Given the description of an element on the screen output the (x, y) to click on. 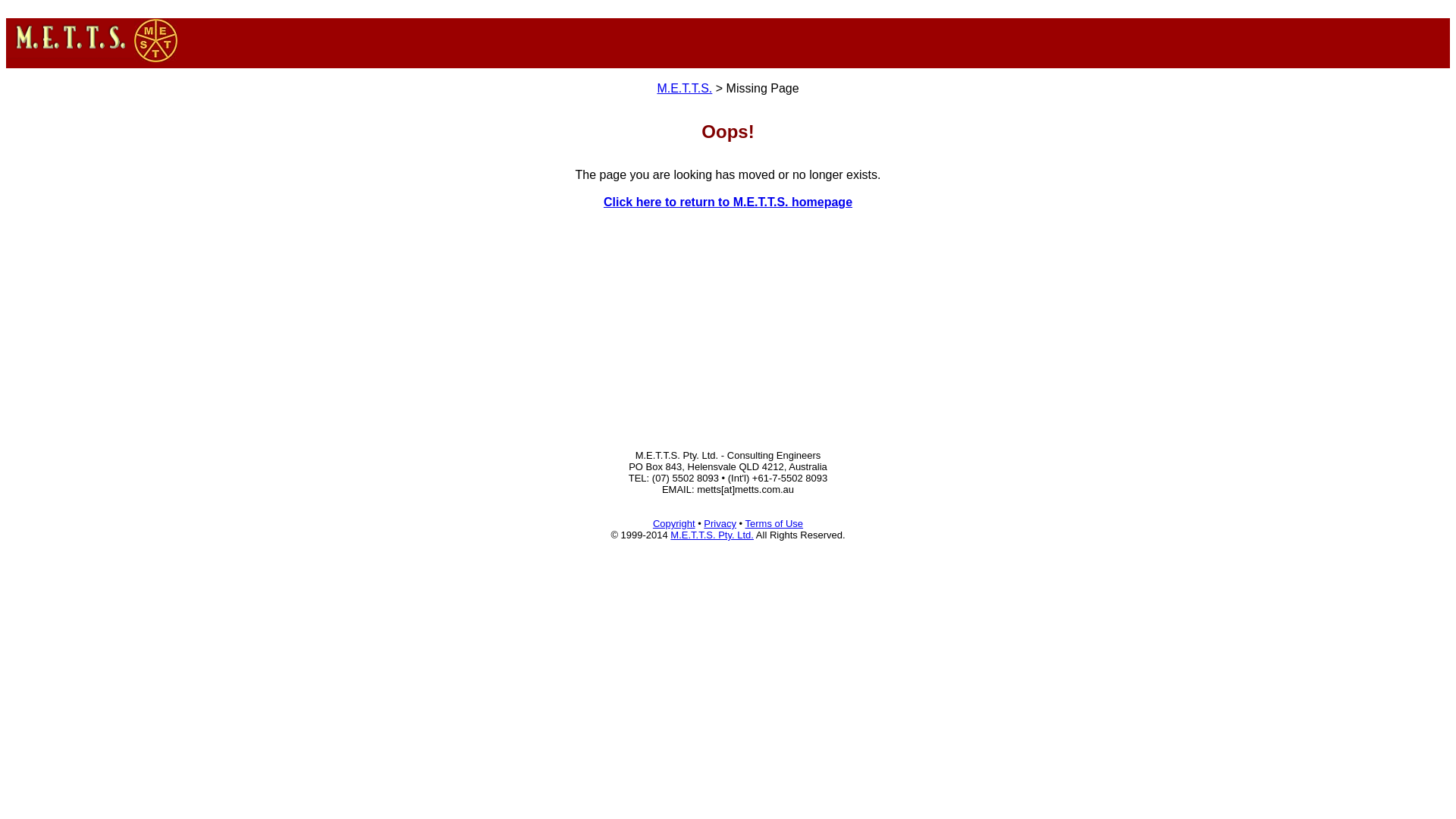
Copyright Element type: text (673, 523)
Terms of Use Element type: text (773, 523)
Privacy Element type: text (719, 523)
M.E.T.T.S. Pty. Ltd. Element type: text (711, 534)
M.E.T.T.S. Element type: text (684, 87)
Click here to return to M.E.T.T.S. homepage Element type: text (727, 201)
